Given the description of an element on the screen output the (x, y) to click on. 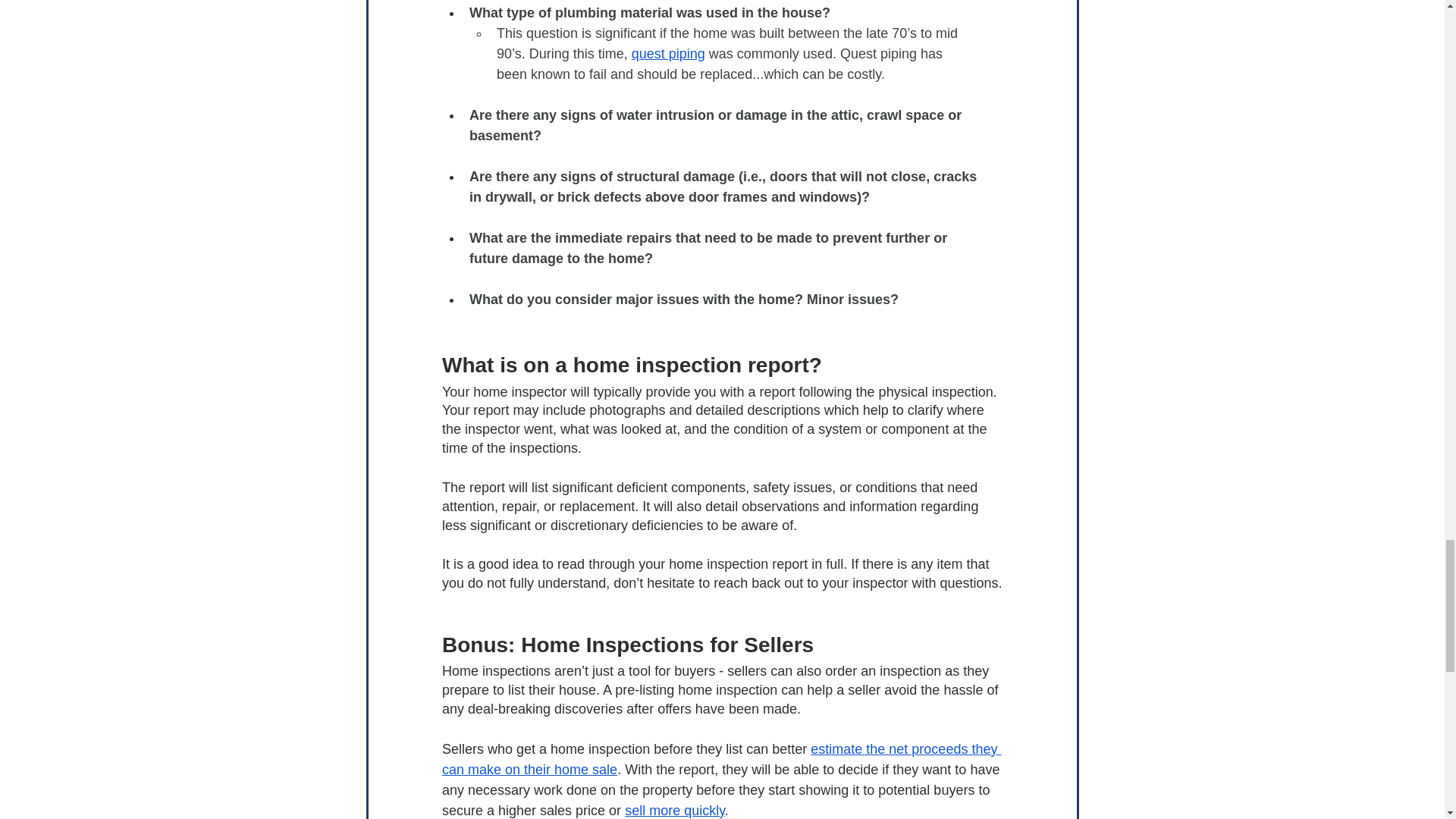
sell more quickly (674, 810)
quest piping (667, 53)
estimate the net proceeds they can make on their home sale (720, 759)
